Given the description of an element on the screen output the (x, y) to click on. 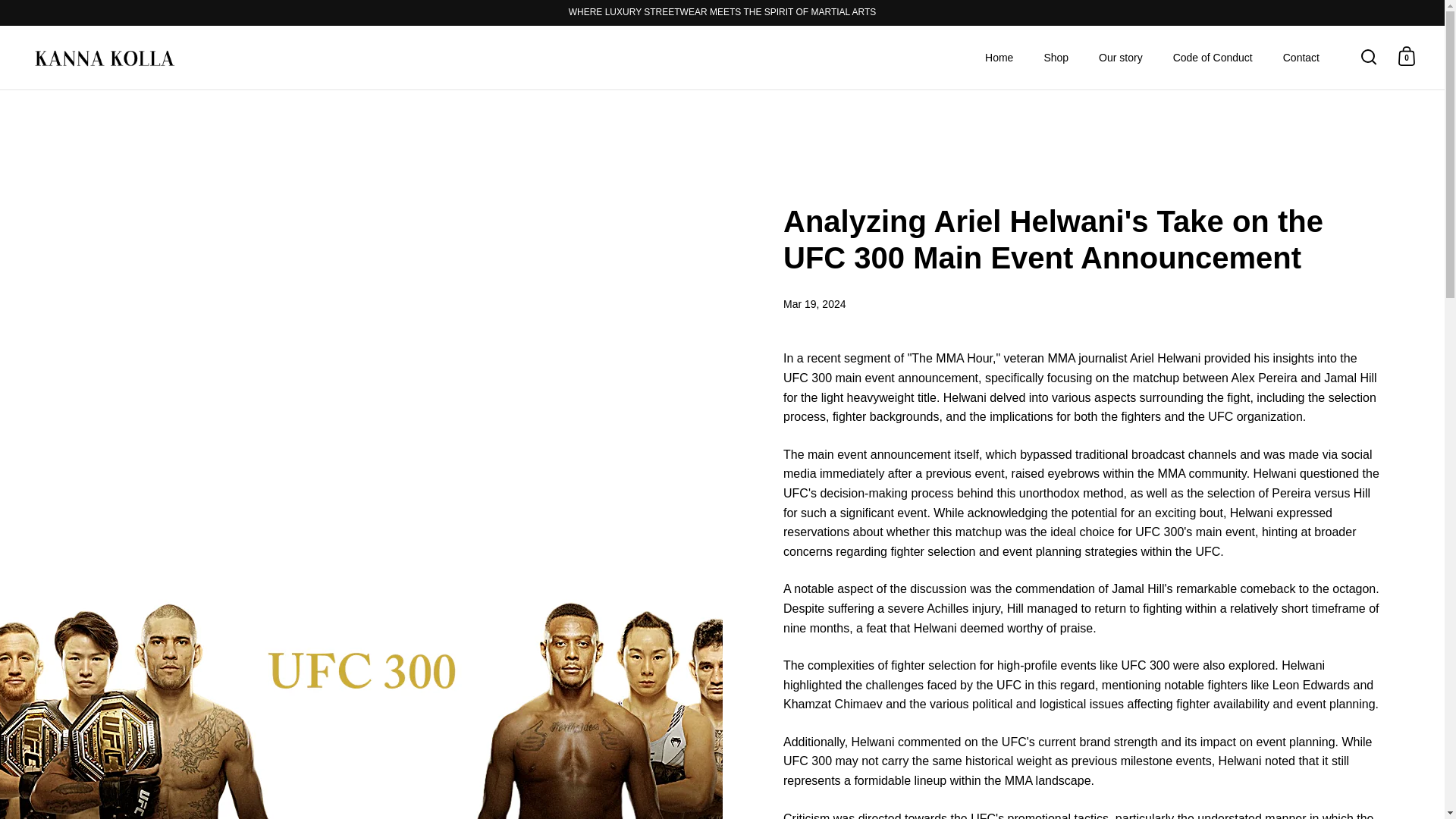
Home (998, 57)
Open cart (1406, 55)
Contact (1301, 57)
Open search (1369, 55)
Our story (1120, 57)
Shop (1055, 57)
Code of Conduct (1212, 57)
